Given the description of an element on the screen output the (x, y) to click on. 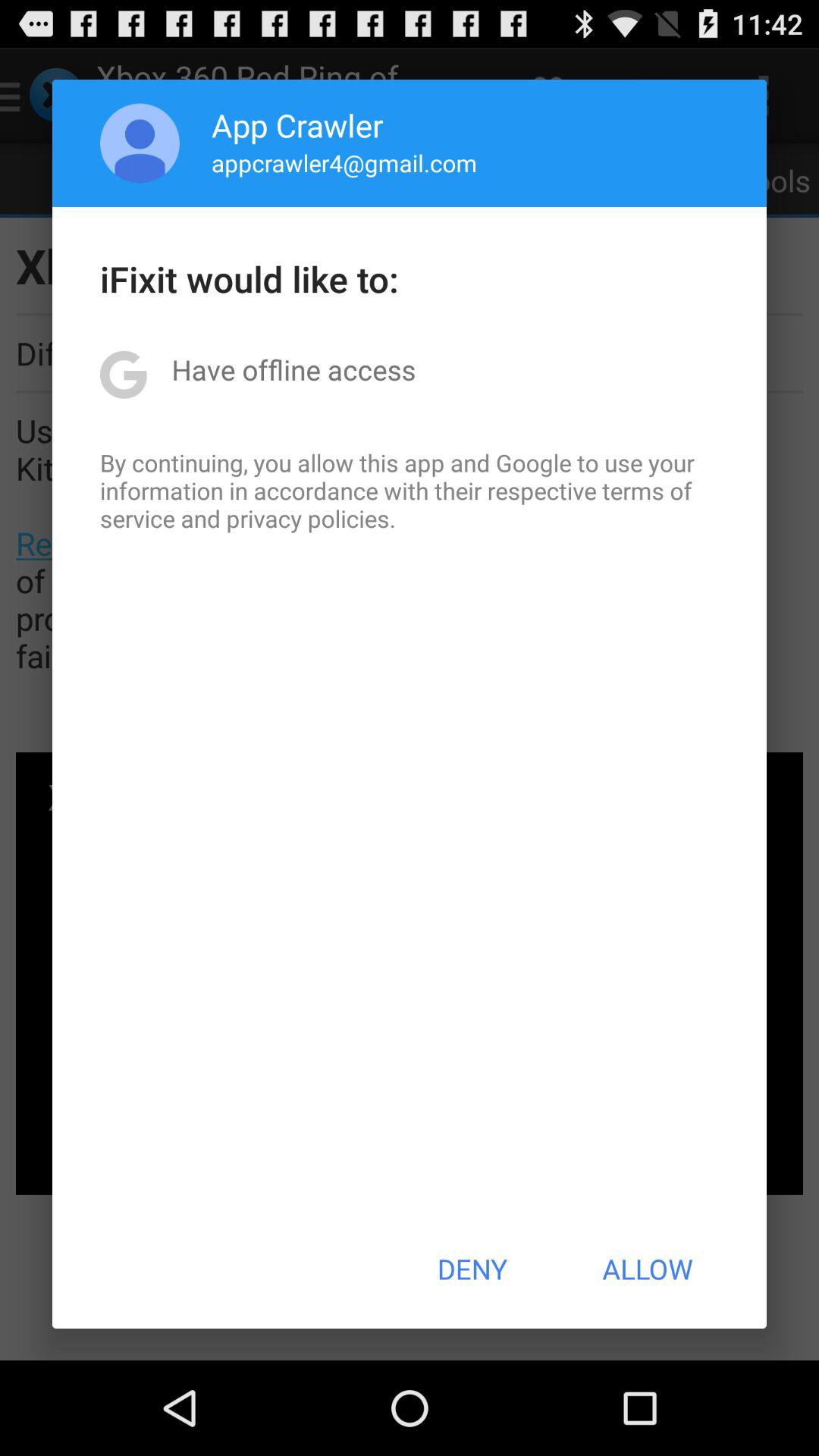
launch icon below the ifixit would like icon (293, 369)
